Given the description of an element on the screen output the (x, y) to click on. 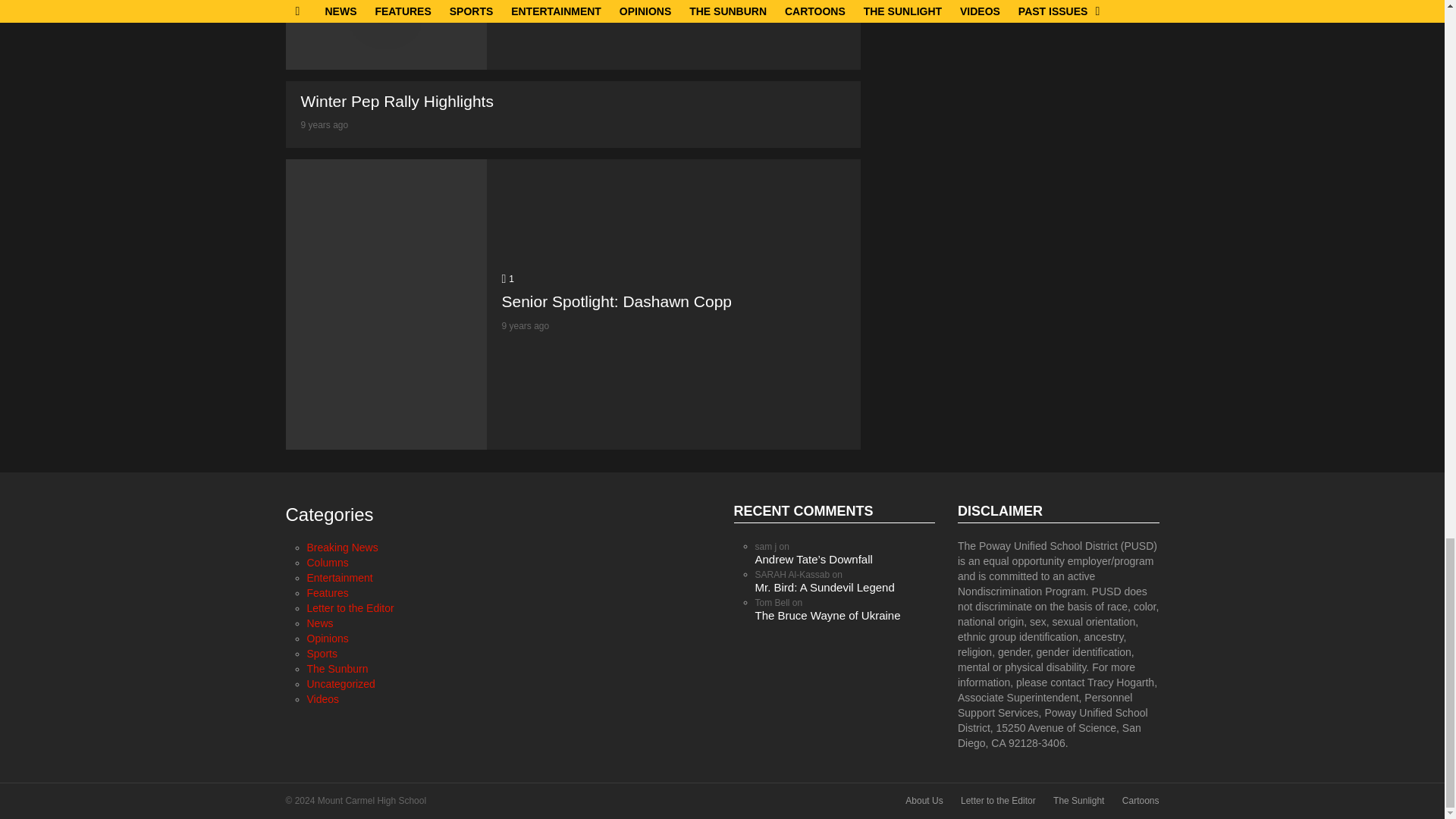
April 26, 2016, 9:22 am (526, 13)
January 20, 2016, 9:26 am (323, 124)
